Given the description of an element on the screen output the (x, y) to click on. 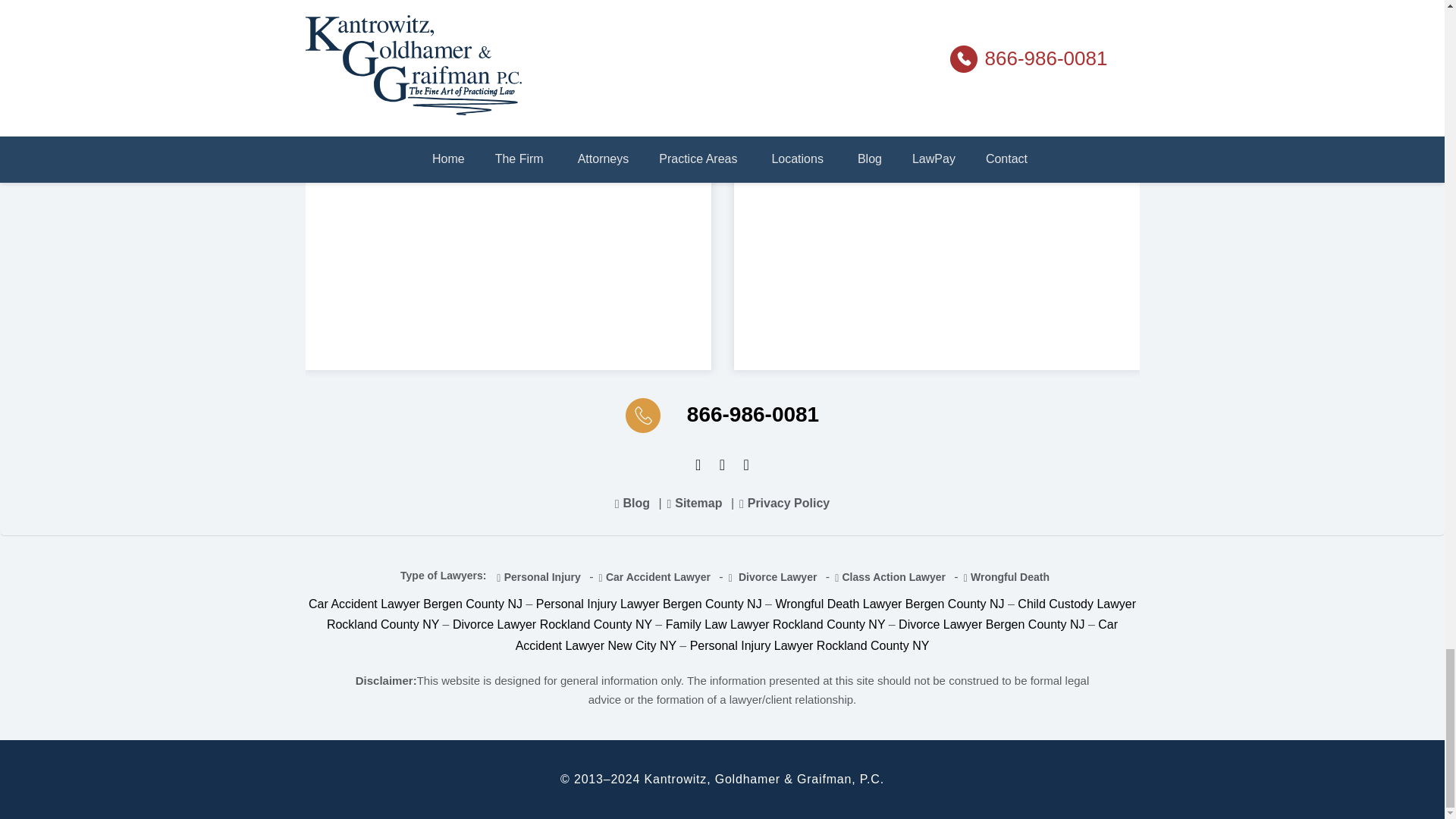
map of rockland county location (507, 170)
map of bergen county location (936, 170)
